Given the description of an element on the screen output the (x, y) to click on. 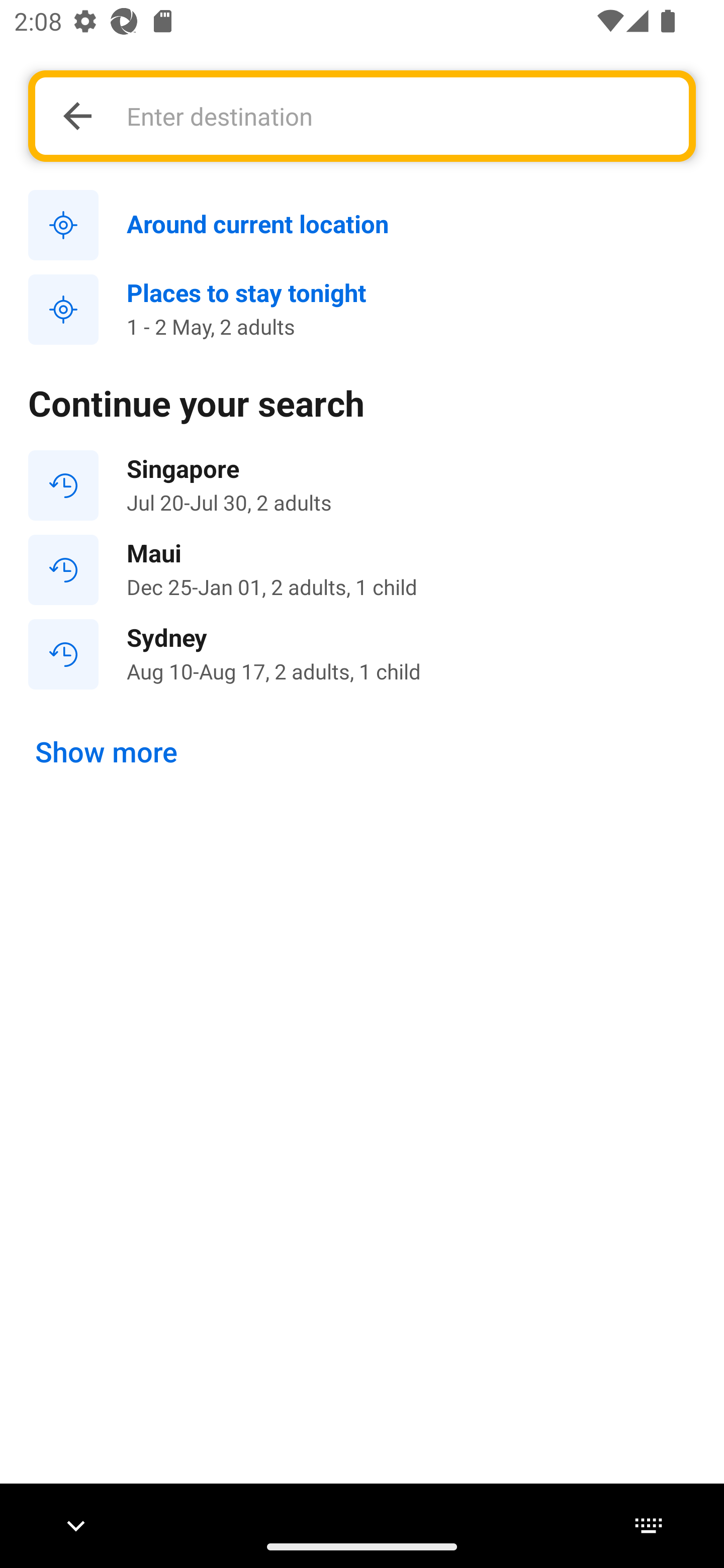
Enter destination (396, 115)
Around current location (362, 225)
Places to stay tonight 1 - 2 May, 2 adults (362, 309)
Singapore Jul 20-Jul 30, 2 adults  (362, 485)
Maui Dec 25-Jan 01, 2 adults, 1 child (362, 569)
Sydney Aug 10-Aug 17, 2 adults, 1 child (362, 653)
Show more (106, 752)
